Given the description of an element on the screen output the (x, y) to click on. 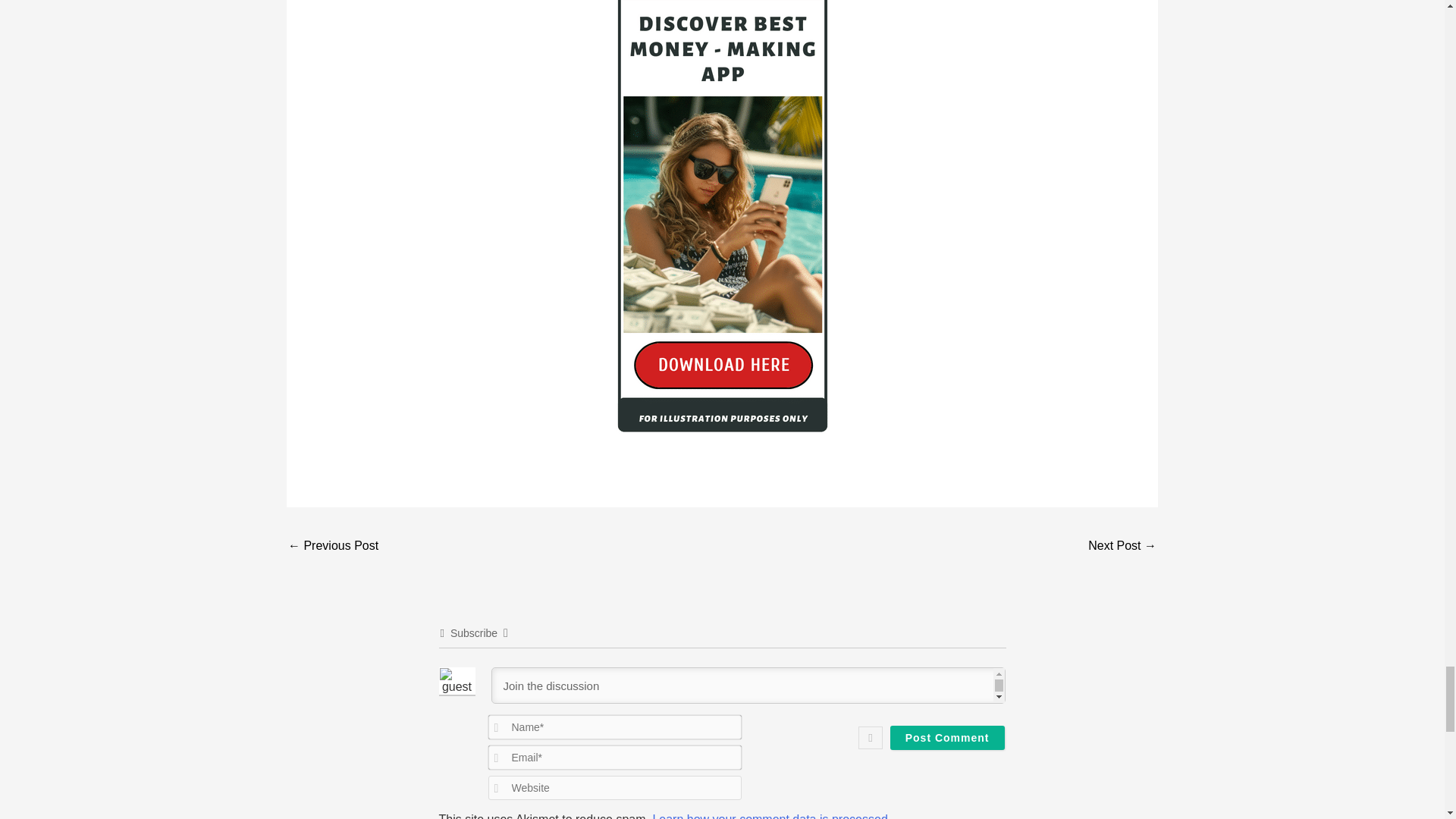
Post Comment (946, 737)
Word Smash App Review - Is it Legit? Not as Advertised (1121, 547)
Learn how your comment data is processed (769, 816)
Post Comment (946, 737)
Word Picnic App Review - Where Are The Prizes? (333, 547)
